Given the description of an element on the screen output the (x, y) to click on. 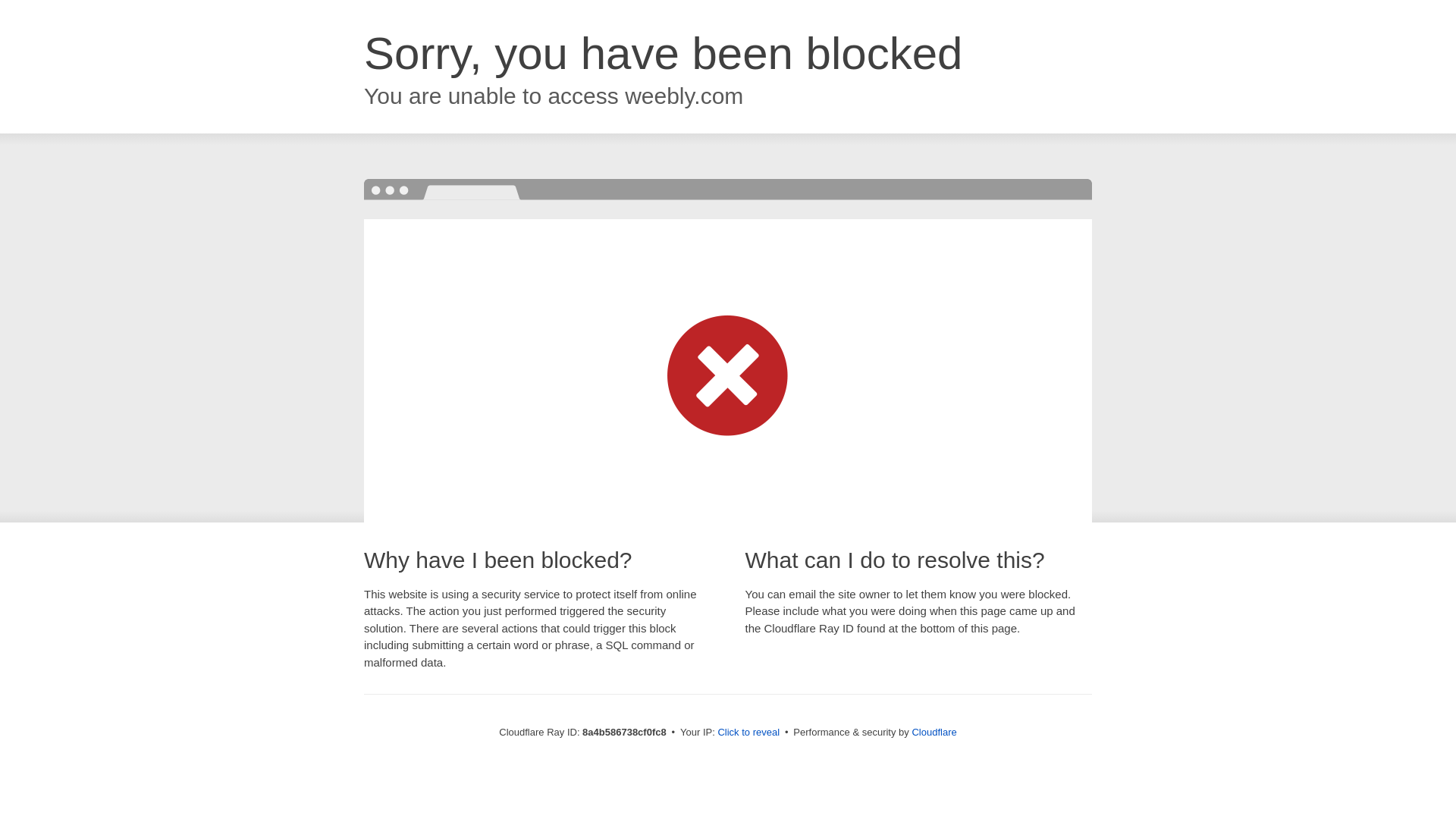
Cloudflare (933, 731)
Click to reveal (747, 732)
